Given the description of an element on the screen output the (x, y) to click on. 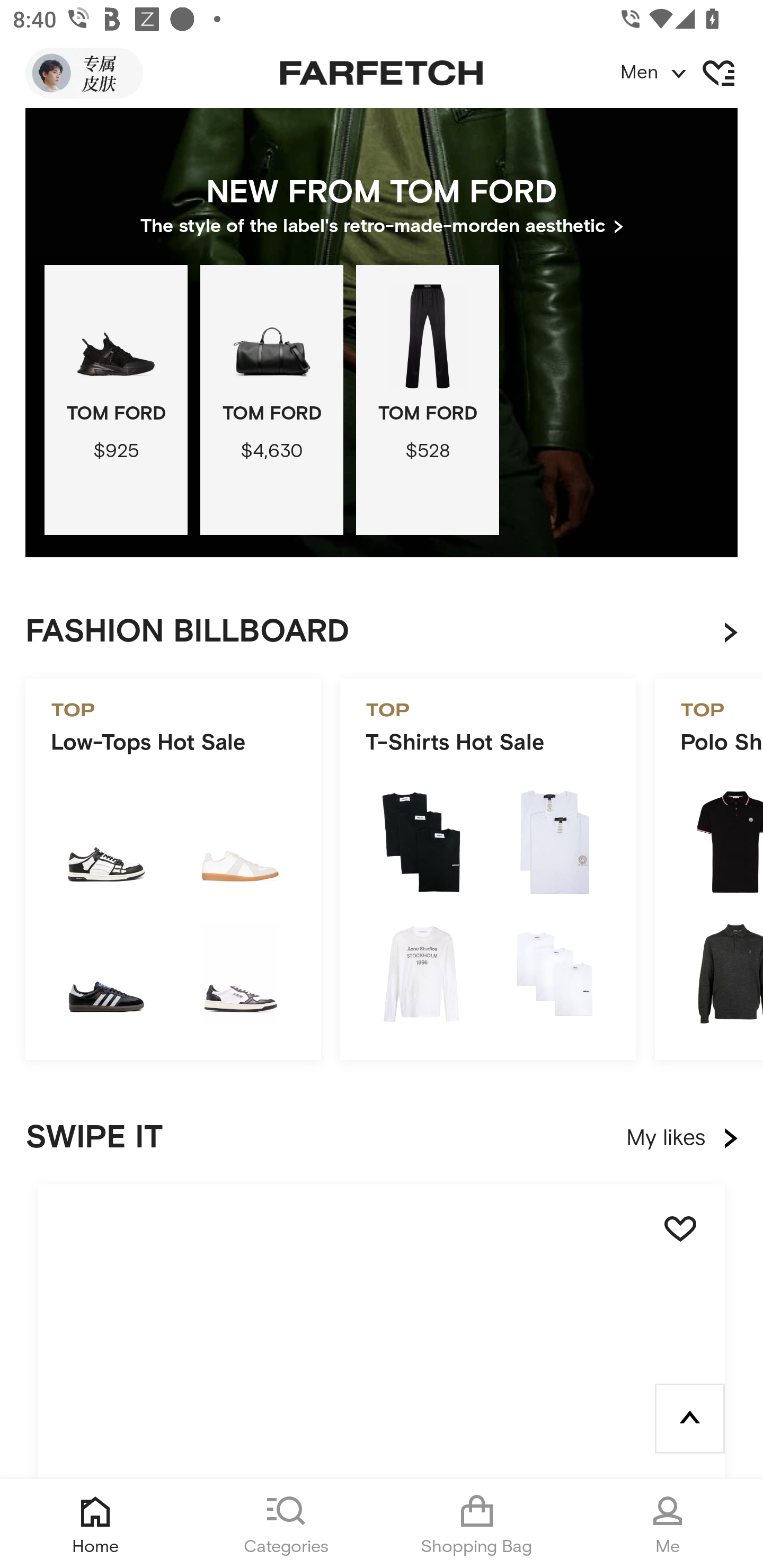
Men (691, 72)
TOM FORD $925 (115, 399)
TOM FORD $4,630 (271, 399)
TOM FORD $528 (427, 399)
FASHION BILLBOARD (394, 632)
Low-Tops Hot Sale (173, 868)
T-Shirts Hot Sale (487, 868)
SWIPE IT My likes (381, 1138)
Categories (285, 1523)
Shopping Bag (476, 1523)
Me (667, 1523)
